Given the description of an element on the screen output the (x, y) to click on. 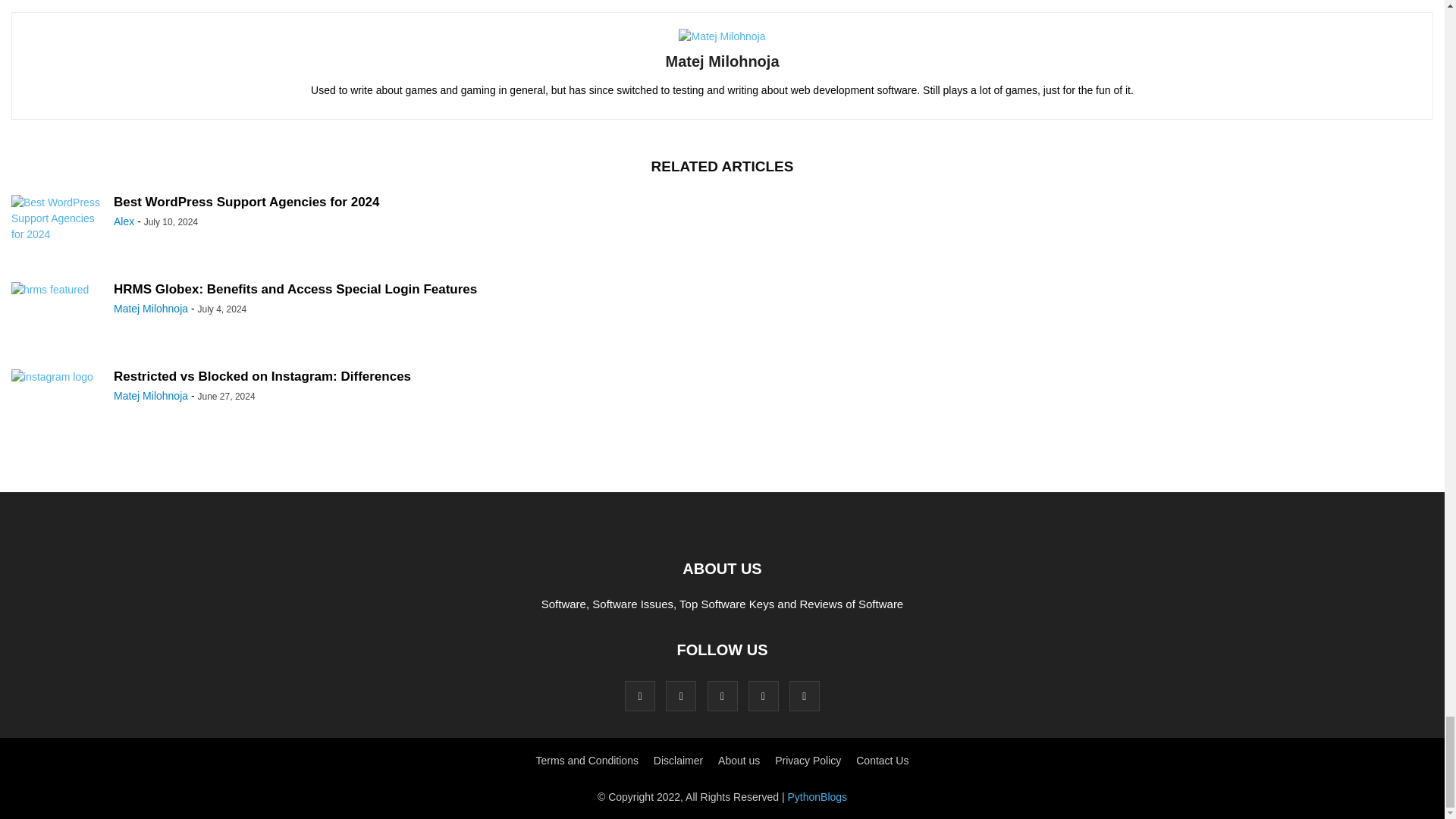
Alex (123, 221)
Best WordPress Support Agencies for 2024 (56, 228)
Best WordPress Support Agencies for 2024 (246, 201)
Best WordPress Support Agencies for 2024 (246, 201)
Matej Milohnoja (721, 61)
